Given the description of an element on the screen output the (x, y) to click on. 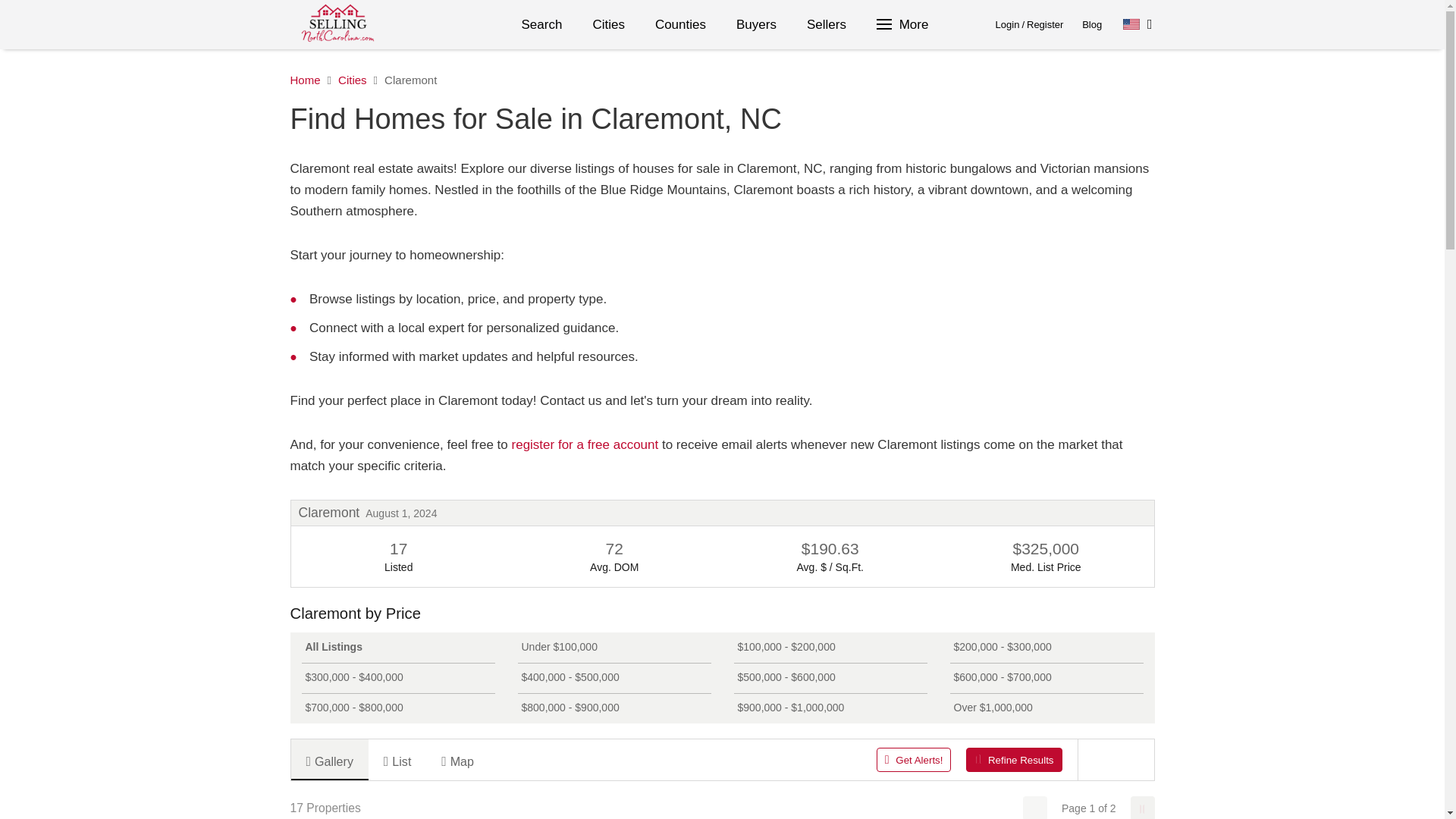
Email Listing Alerts (585, 444)
Counties (680, 24)
Search (542, 24)
Cities (608, 24)
Select Language (1137, 24)
